Given the description of an element on the screen output the (x, y) to click on. 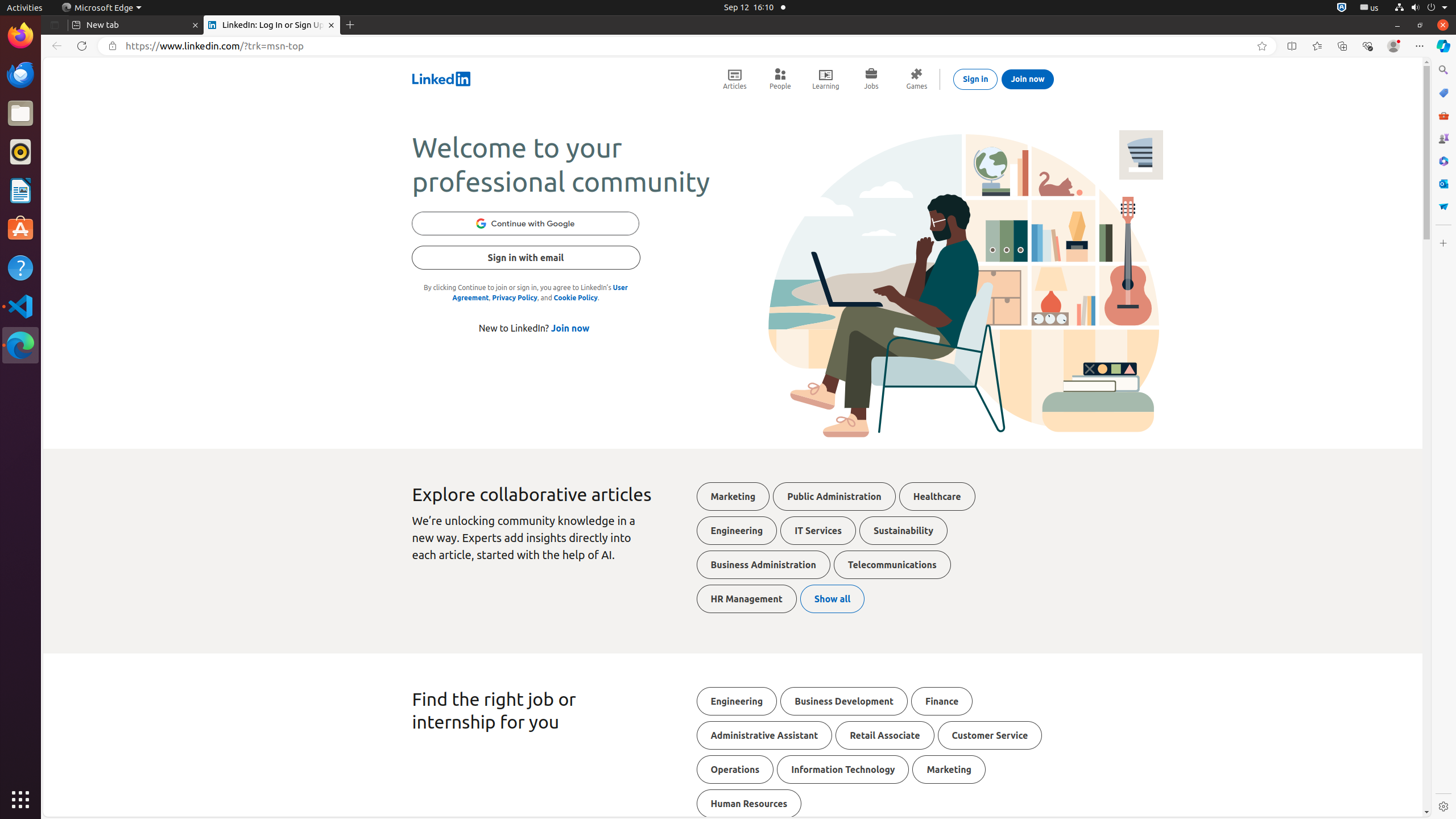
Back Element type: push-button (54, 45)
Jobs Element type: link (870, 78)
Customer Service Element type: link (989, 735)
Settings Element type: push-button (1443, 806)
Information Technology Element type: link (842, 769)
